Given the description of an element on the screen output the (x, y) to click on. 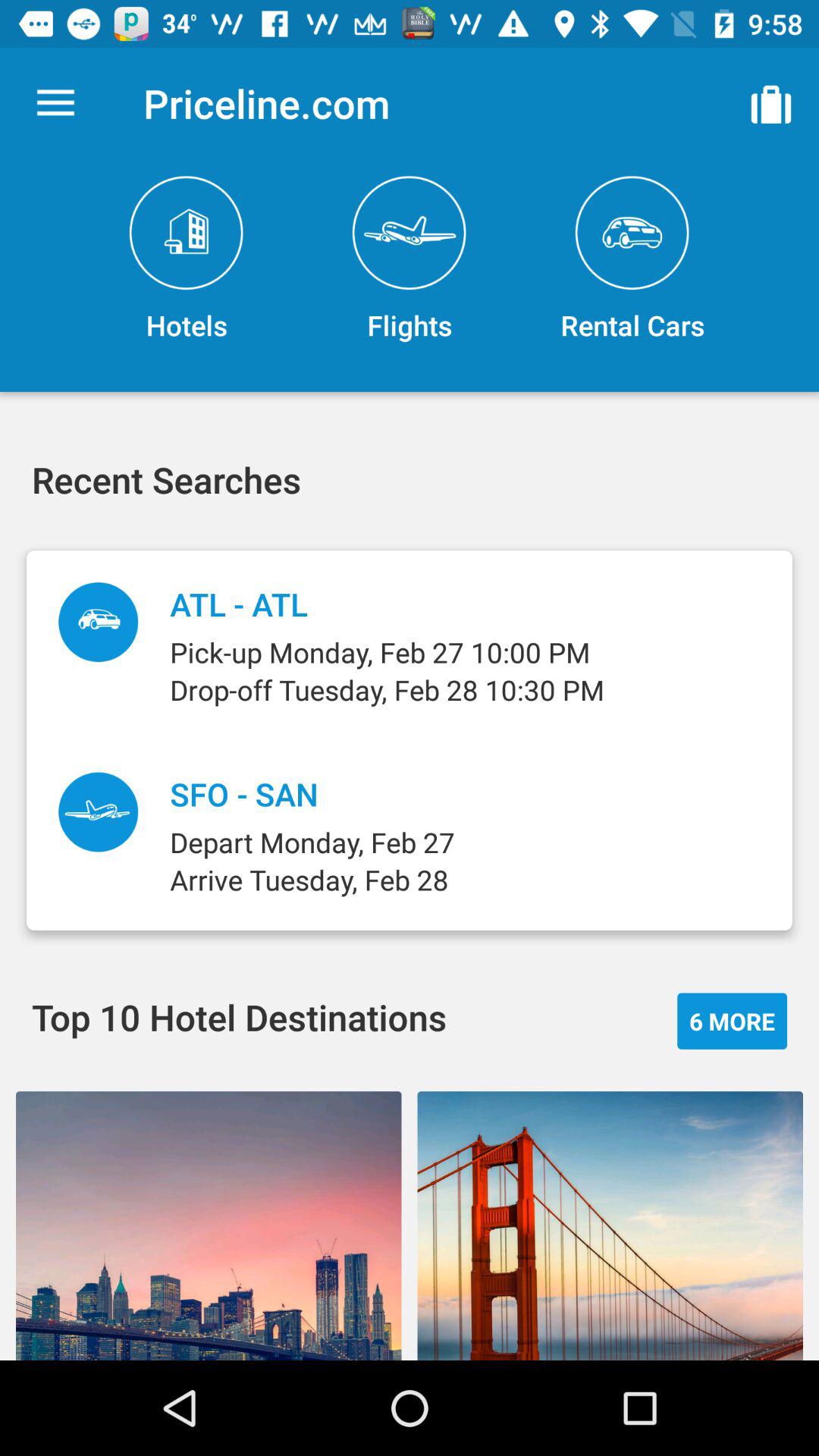
press item next to the top 10 hotel icon (732, 1021)
